Given the description of an element on the screen output the (x, y) to click on. 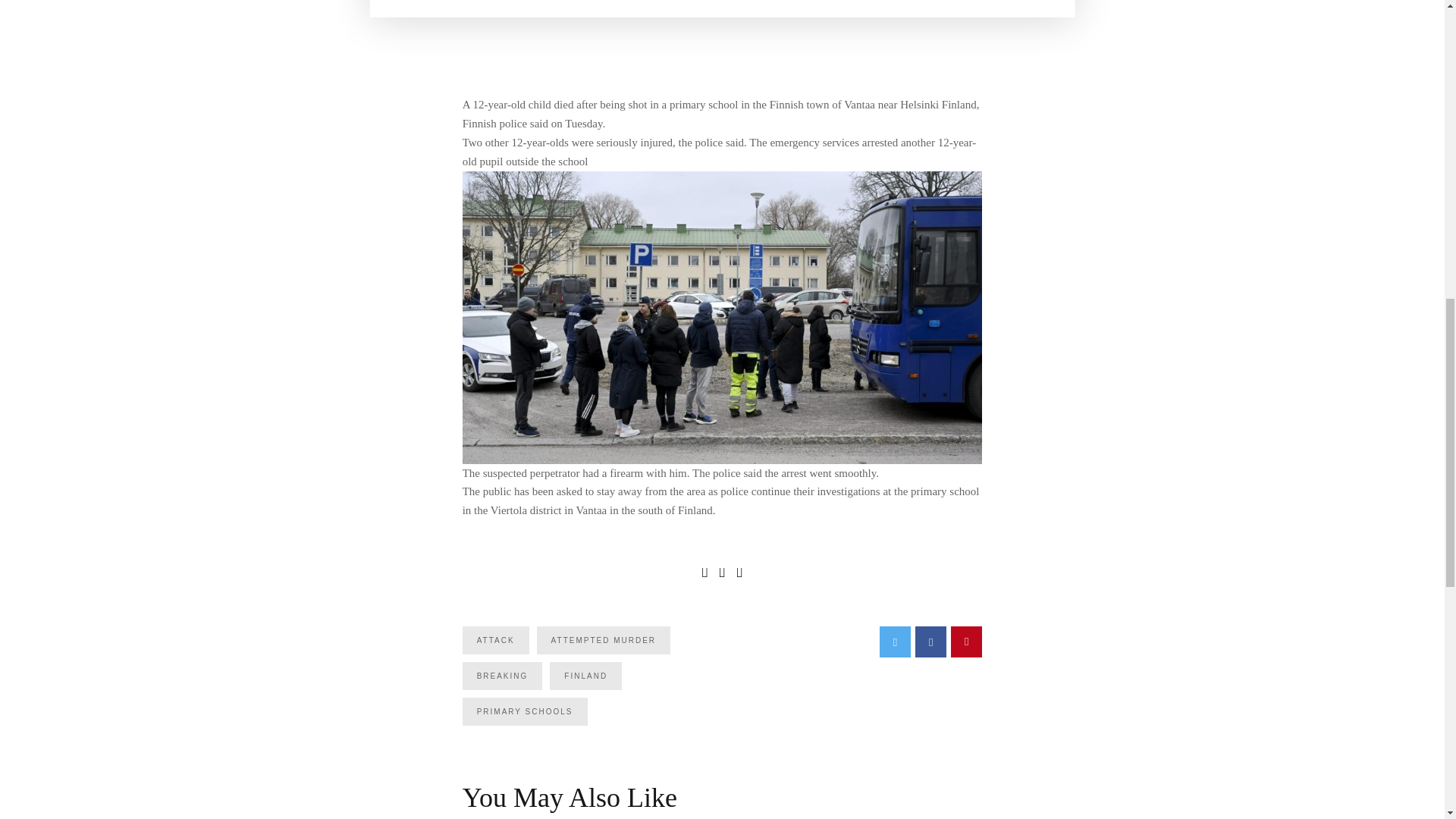
BREAKING (503, 675)
ATTEMPTED MURDER (603, 640)
ATTACK (496, 640)
